Given the description of an element on the screen output the (x, y) to click on. 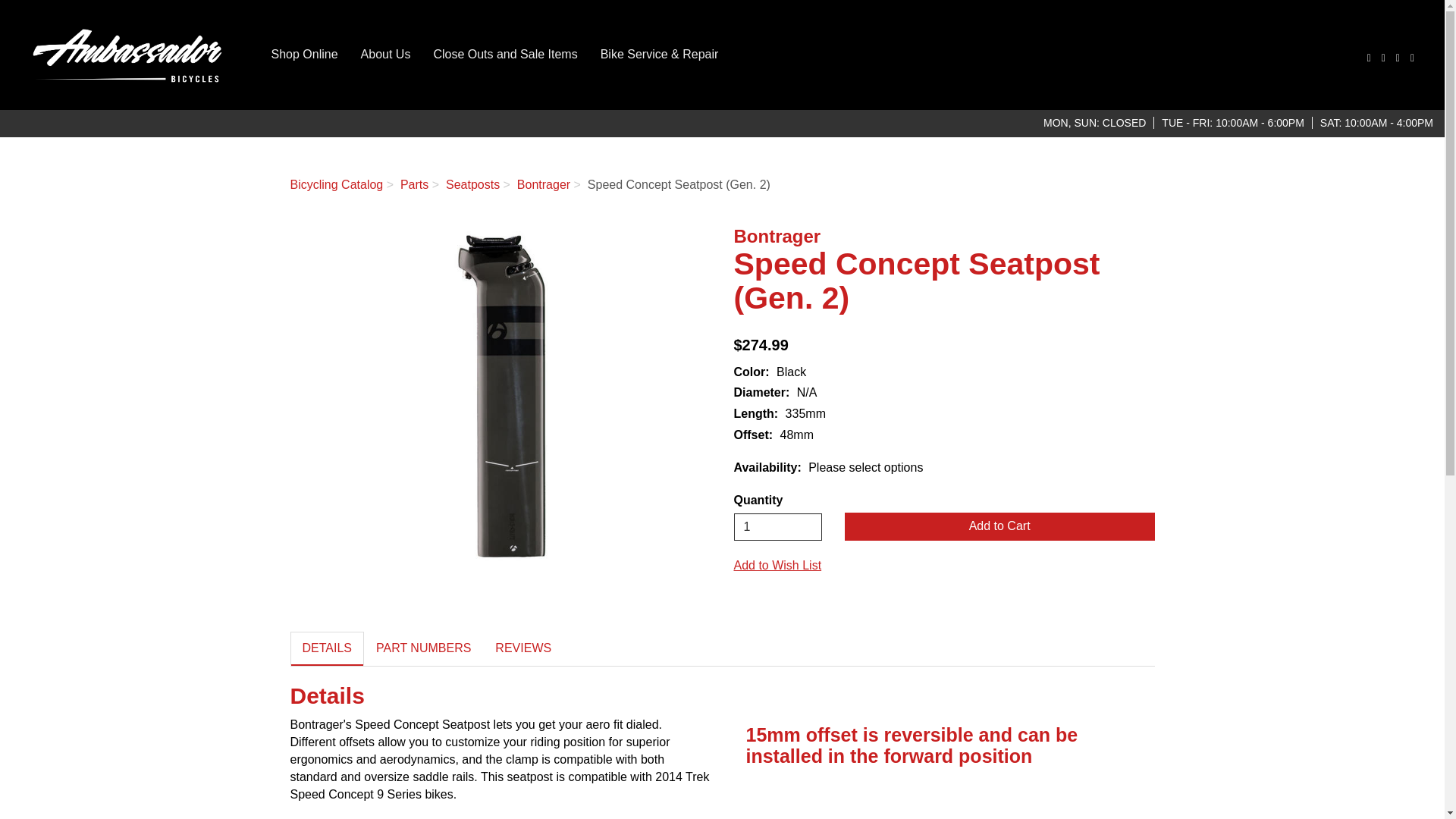
Shop Online (304, 54)
Ambassador Bicycles Home Page (130, 54)
Cart (1410, 57)
1 (777, 526)
Stores (1396, 57)
Account (1382, 57)
